Given the description of an element on the screen output the (x, y) to click on. 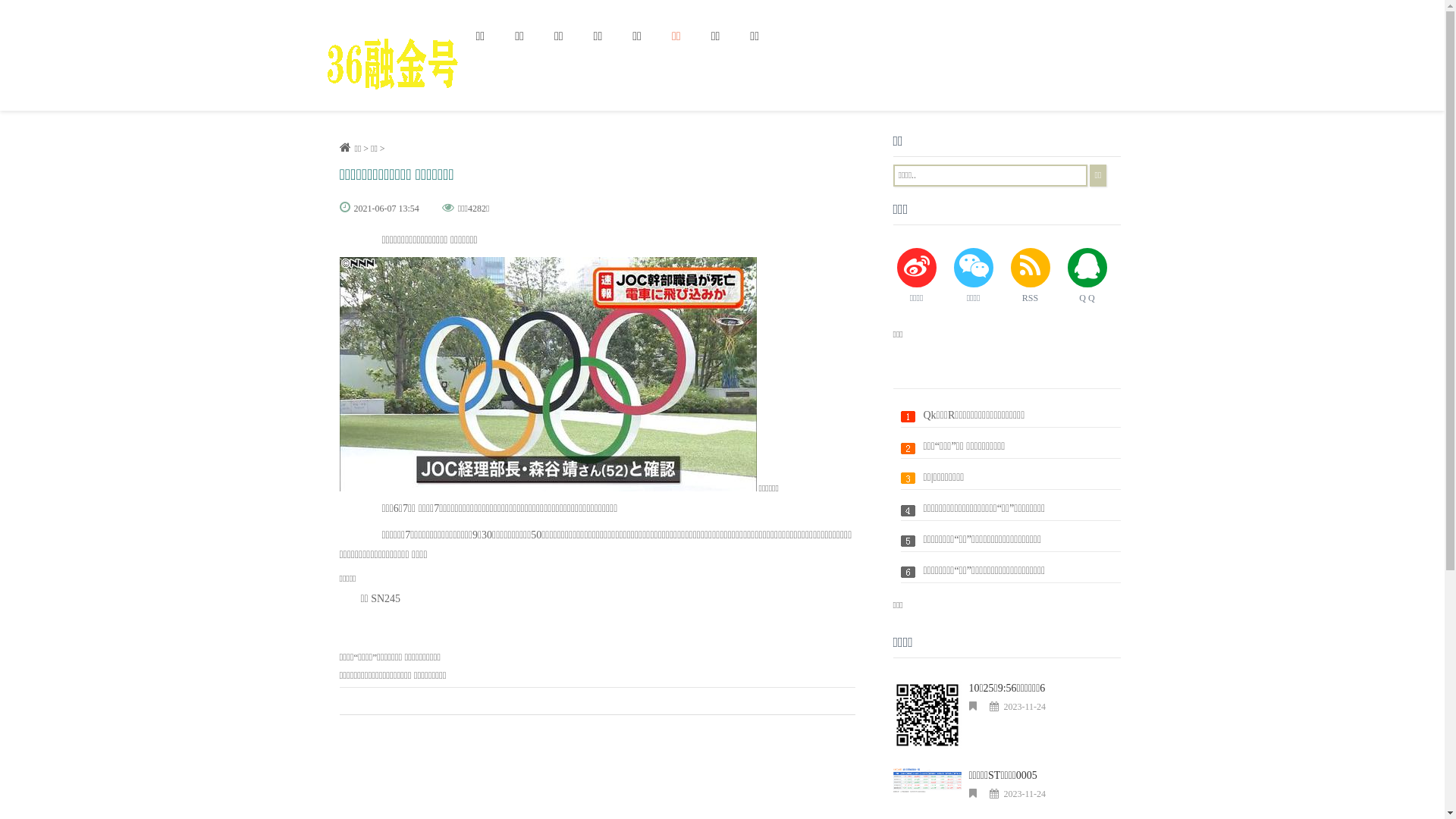
Q Q Element type: text (1087, 275)
RSS Element type: text (1029, 275)
